Given the description of an element on the screen output the (x, y) to click on. 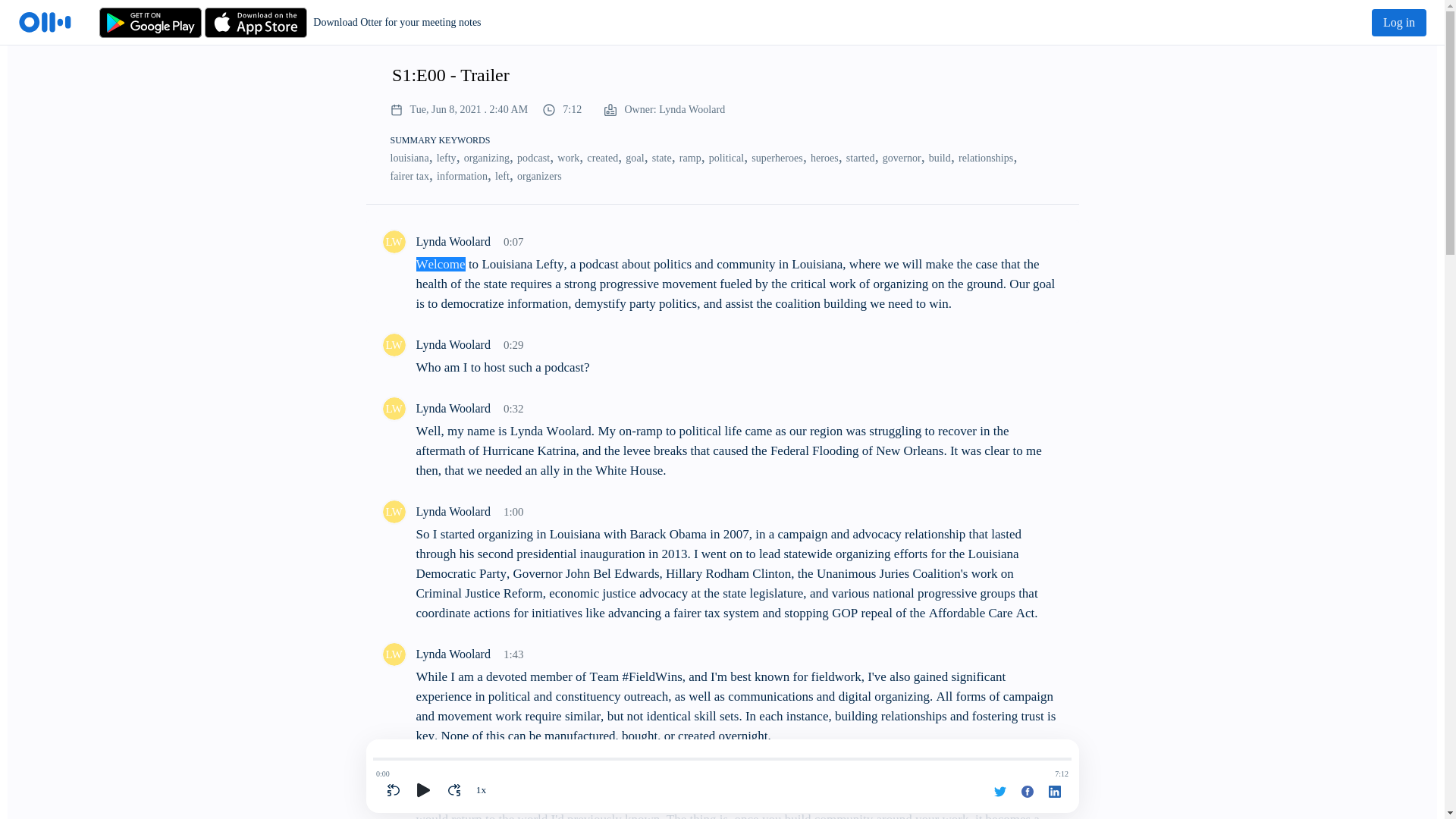
LW (393, 408)
LW (393, 777)
LW (393, 511)
LW (393, 241)
Lynda Woolard (392, 408)
Lynda Woolard (392, 241)
Lynda Woolard (392, 511)
LW (393, 344)
Log in (1398, 22)
Lynda Woolard (392, 653)
